Given the description of an element on the screen output the (x, y) to click on. 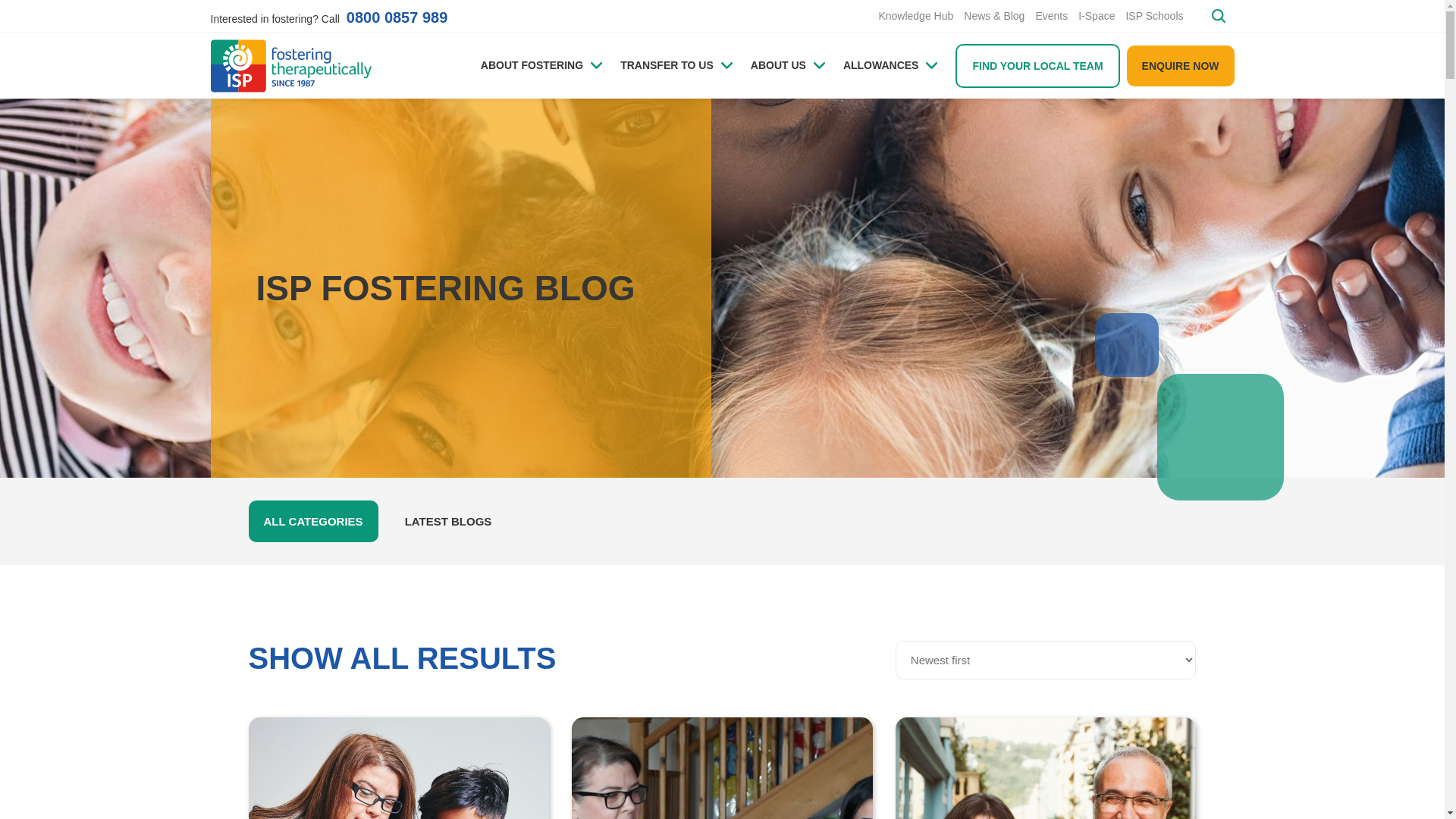
Knowledge Hub (915, 15)
ABOUT FOSTERING (540, 65)
ISP Schools (1154, 15)
SEARCH (1218, 15)
Home (291, 65)
Events (1051, 15)
ISP Schools (1154, 15)
0800 0857 989 (396, 17)
About fostering (540, 65)
Call 0800 0857 989 (396, 17)
